Given the description of an element on the screen output the (x, y) to click on. 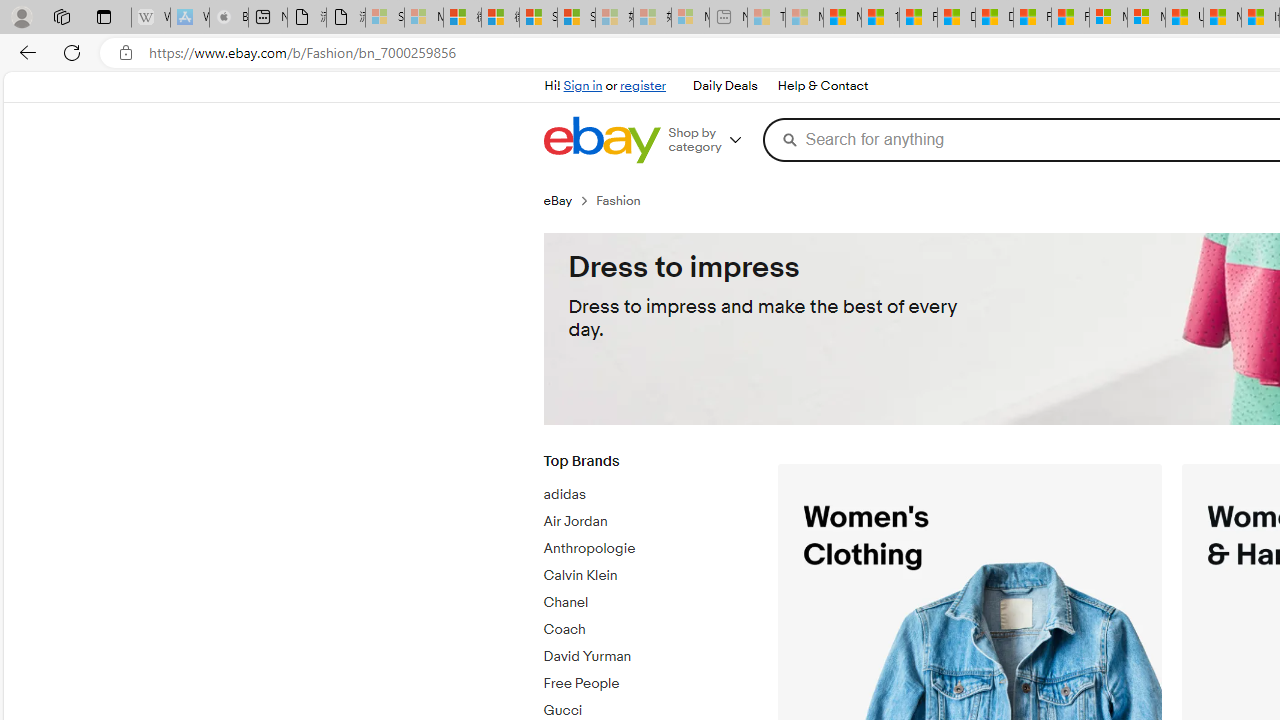
Microsoft account | Account Checkup - Sleeping (690, 17)
Anthropologie (645, 545)
register (642, 85)
eBay (557, 200)
Daily Deals (724, 85)
US Heat Deaths Soared To Record High Last Year (1184, 17)
Anthropologie (645, 549)
Food and Drink - MSN (917, 17)
adidas (645, 495)
Coach (645, 630)
Foo BAR | Trusted Community Engagement and Contributions (1070, 17)
